Given the description of an element on the screen output the (x, y) to click on. 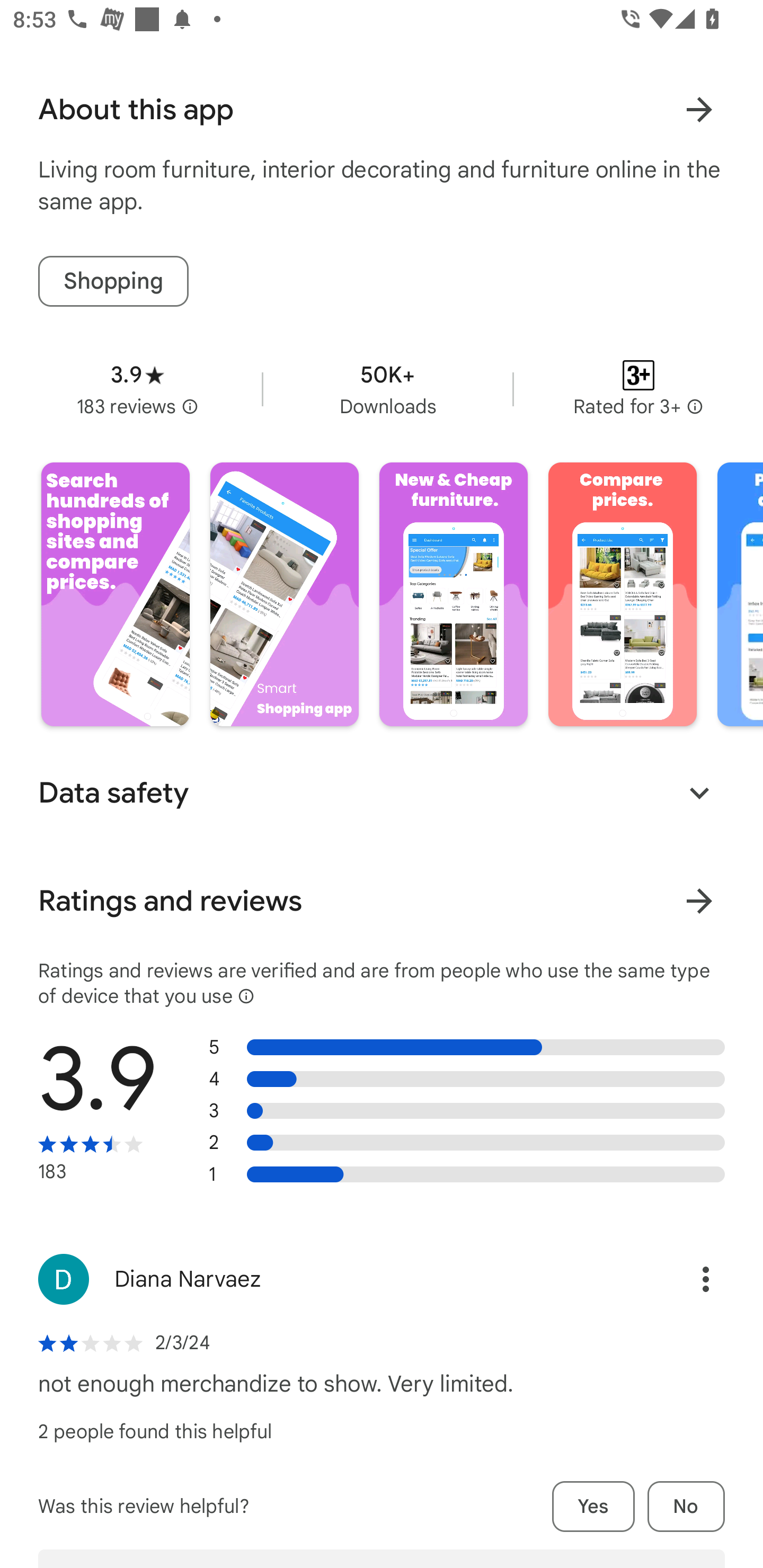
About this app Learn more About this app (381, 109)
Learn more About this app (699, 109)
Shopping tag (113, 281)
Average rating 3.9 stars in 183 reviews (137, 389)
Content rating Rated for 3+ (638, 389)
Screenshot "1" of "7" (115, 593)
Screenshot "2" of "7" (284, 593)
Screenshot "3" of "7" (453, 593)
Screenshot "4" of "7" (622, 593)
Data safety Expand (381, 792)
Expand (699, 792)
Ratings and reviews View all ratings and reviews (381, 900)
View all ratings and reviews (699, 900)
Options (686, 1279)
Yes (593, 1505)
No (685, 1505)
